Given the description of an element on the screen output the (x, y) to click on. 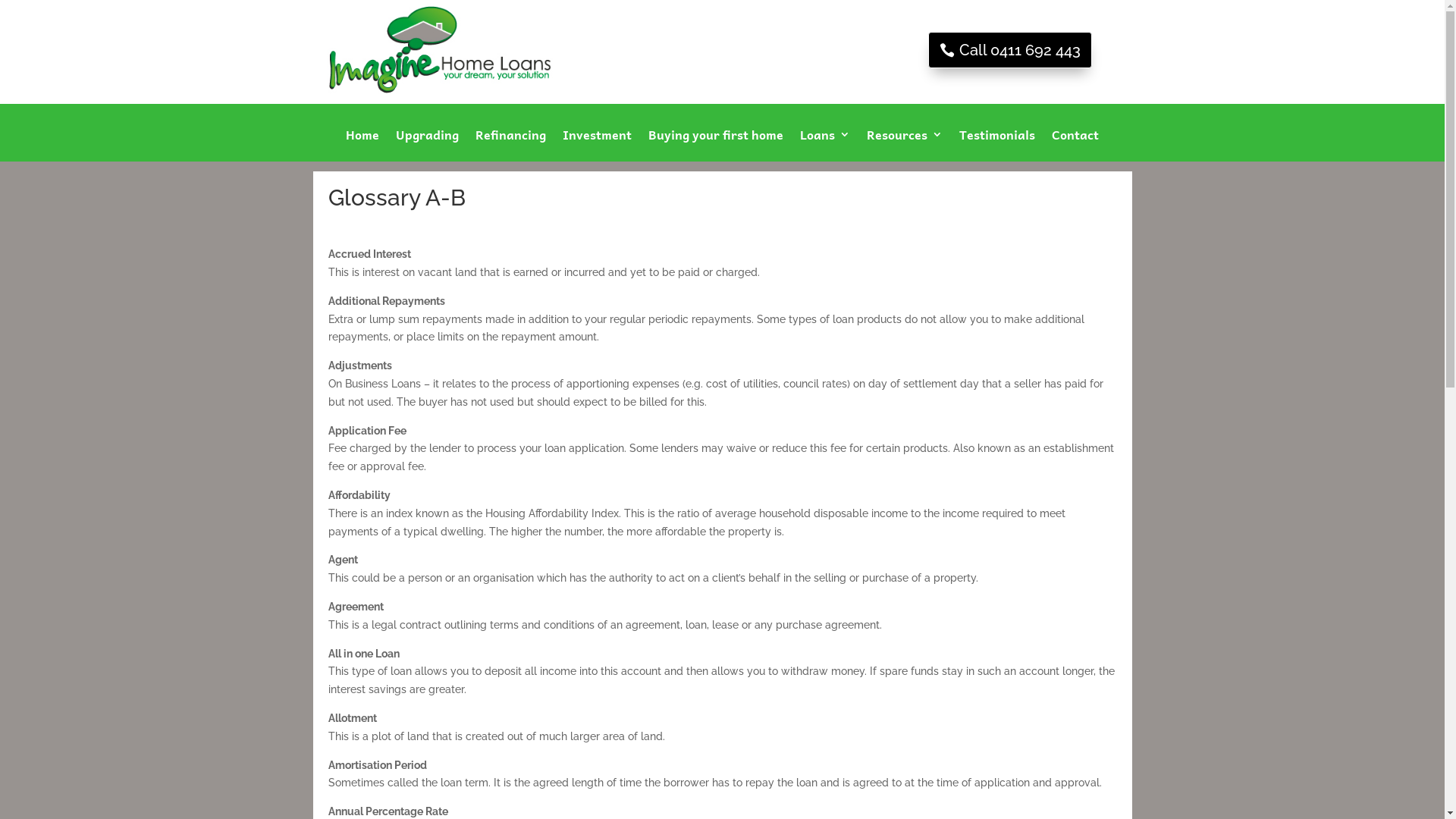
Resources Element type: text (904, 144)
Buying your first home Element type: text (715, 144)
Loans Element type: text (825, 144)
Call 0411 692 443 Element type: text (1010, 49)
Refinancing Element type: text (510, 144)
Upgrading Element type: text (426, 144)
Contact Element type: text (1074, 144)
Testimonials Element type: text (997, 144)
Investment Element type: text (596, 144)
Home Element type: text (362, 144)
